Given the description of an element on the screen output the (x, y) to click on. 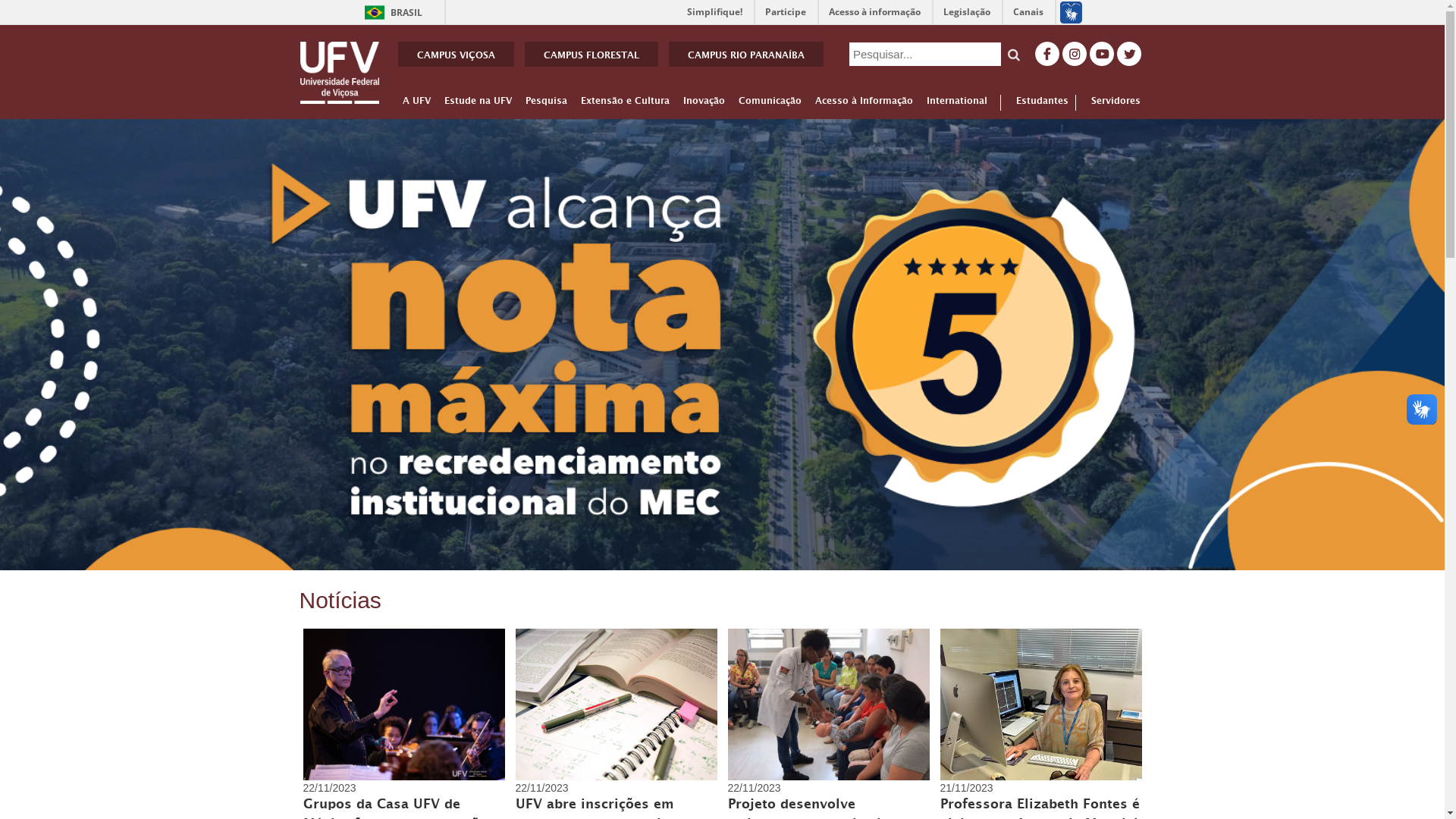
Titulo: Facebook Element type: hover (1047, 53)
Foto - Portal da UFV Element type: hover (828, 704)
CAMPUS FLORESTAL Element type: text (591, 53)
Servidores Element type: text (1107, 102)
Estude na UFV Element type: text (477, 103)
A UFV Element type: text (415, 103)
Titulo: Twitter Element type: hover (1128, 53)
Search   Element type: text (1013, 54)
Foto - Portal da UFV Element type: hover (404, 704)
BRASIL Element type: text (373, 12)
Titulo: YouTube Element type: hover (1101, 53)
Estudantes Element type: text (1033, 102)
International Element type: text (956, 103)
Foto - Portal da UFV Element type: hover (1041, 704)
Foto - Portal da UFV Element type: hover (616, 704)
Pesquisa Element type: text (545, 103)
Titulo: Instagram Element type: hover (1074, 53)
banner nota 5 Element type: hover (722, 344)
